Given the description of an element on the screen output the (x, y) to click on. 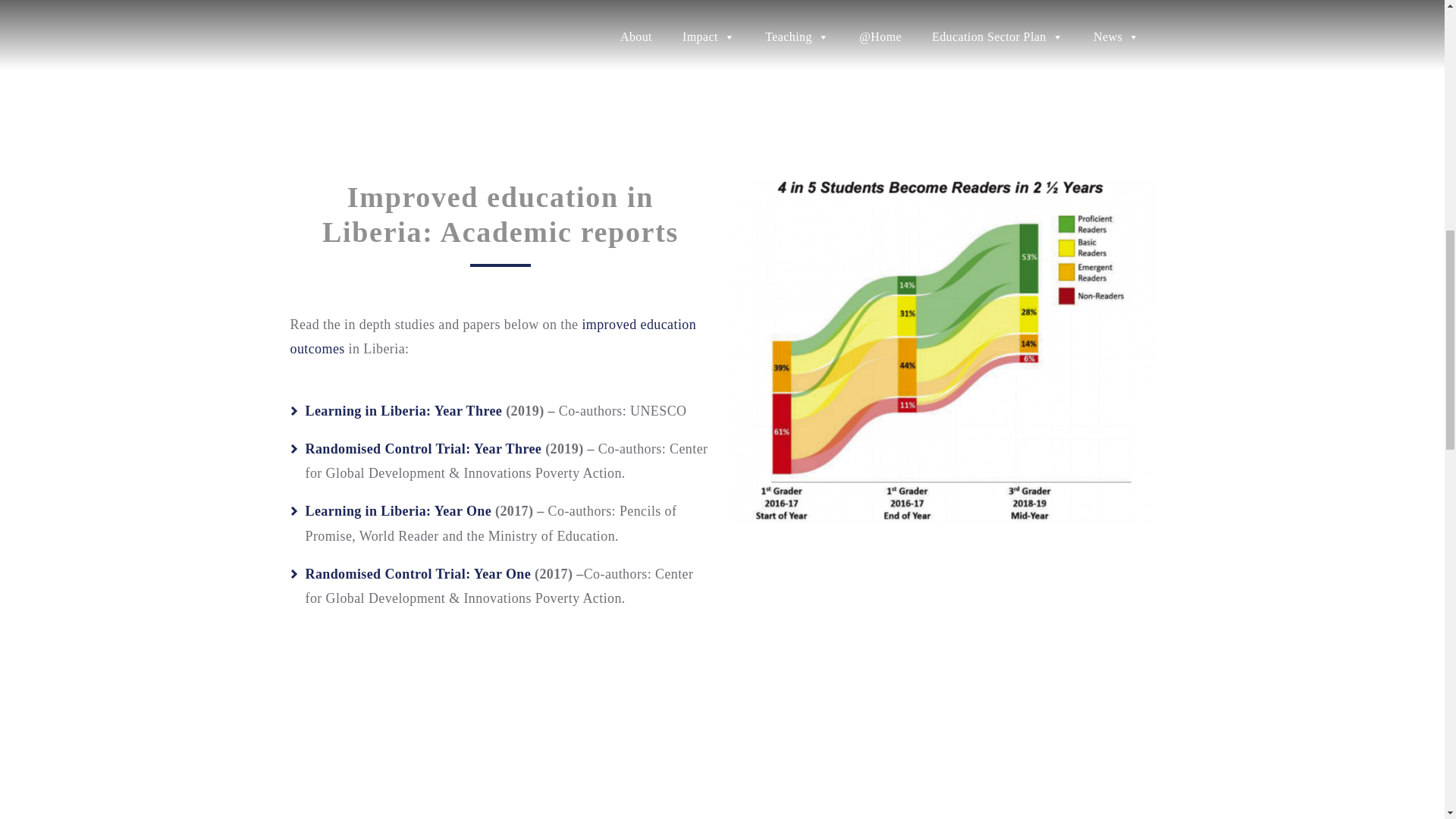
Learning in Liberia: Year One (398, 510)
Randomised Control Trial: Year Three (422, 448)
improved education outcomes (492, 336)
Learning in Liberia: Year Three (403, 410)
Randomised Control Trial: Year One (417, 573)
